Given the description of an element on the screen output the (x, y) to click on. 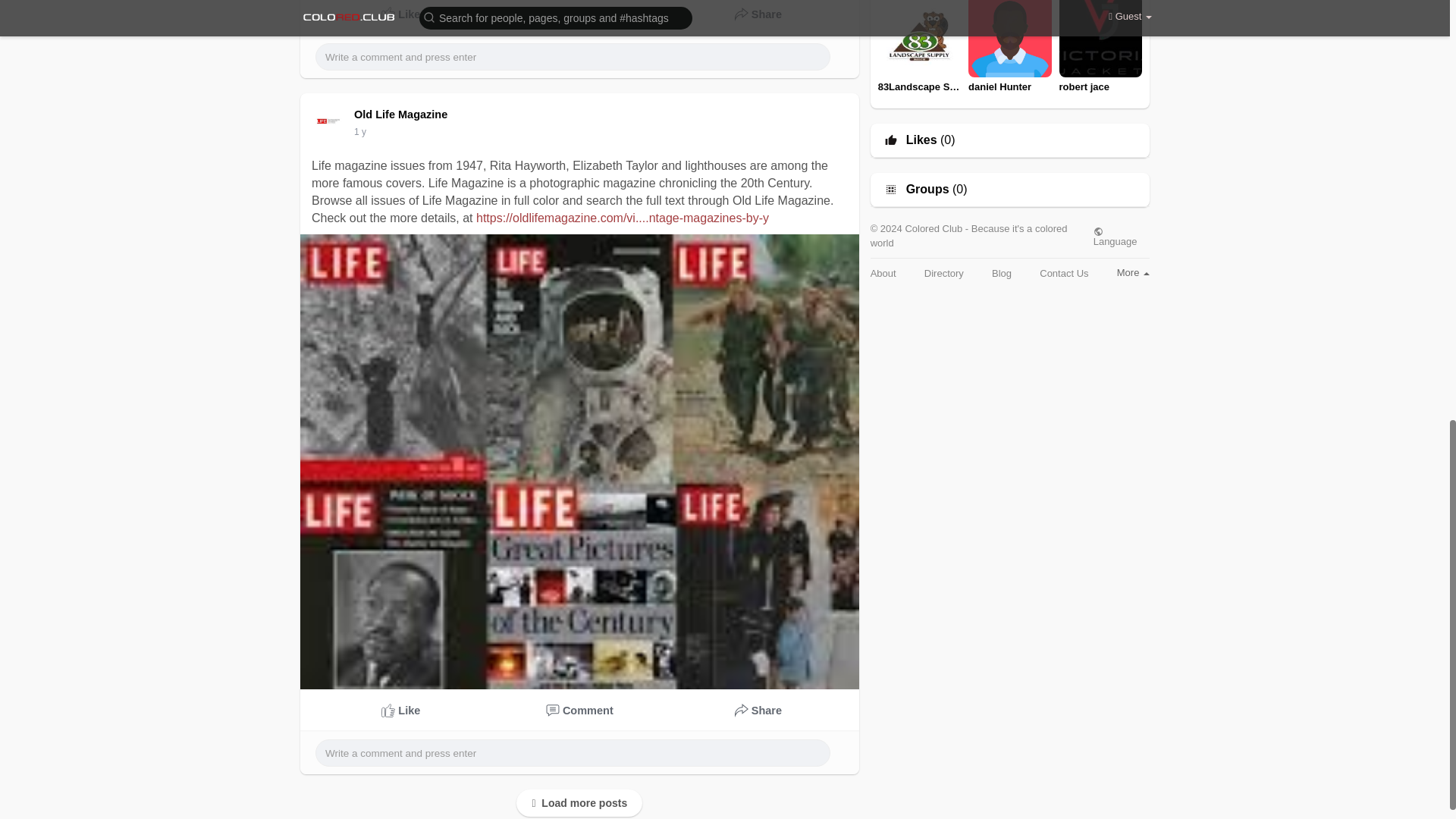
Comments (579, 14)
Blog (1001, 273)
Share (757, 710)
Share (757, 14)
Groups (927, 189)
Old Life Magazine (402, 114)
Directory (943, 273)
Language (1121, 236)
Likes (921, 140)
About (883, 273)
1 y (359, 131)
Contact Us (1063, 273)
Comments (579, 710)
More (1133, 272)
